Given the description of an element on the screen output the (x, y) to click on. 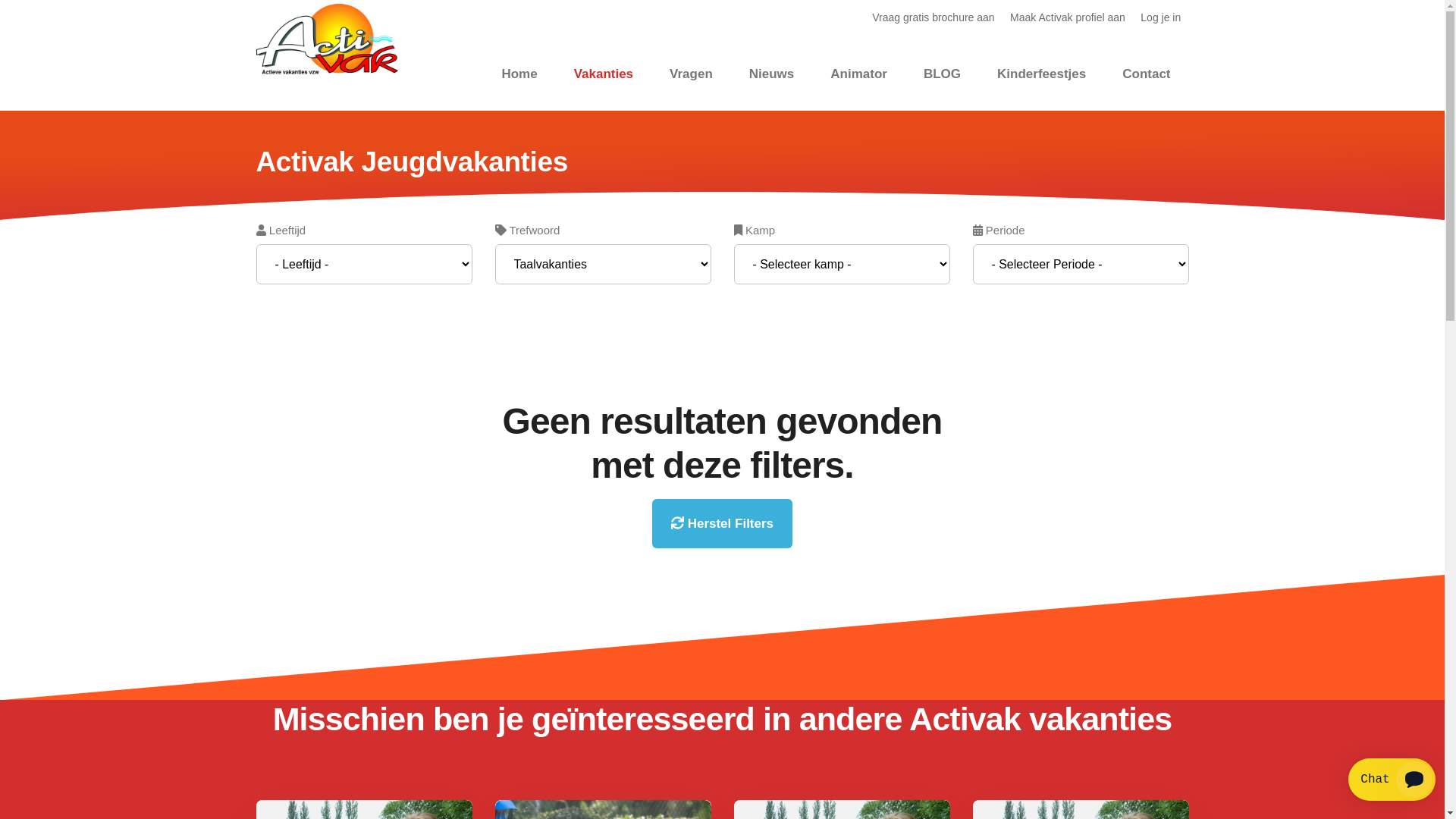
Log je in Element type: text (1160, 17)
Kinderfeestjes Element type: text (1041, 72)
Contact Element type: text (1146, 72)
Animator Element type: text (858, 72)
BLOG Element type: text (942, 72)
Herstel Filters Element type: text (722, 523)
Smartsupp widget button Element type: hover (1391, 779)
Home Element type: text (519, 72)
Vraag gratis brochure aan Element type: text (933, 17)
Vragen Element type: text (691, 72)
Maak Activak profiel aan Element type: text (1067, 17)
Vakanties Element type: text (603, 72)
Nieuws Element type: text (771, 72)
